Given the description of an element on the screen output the (x, y) to click on. 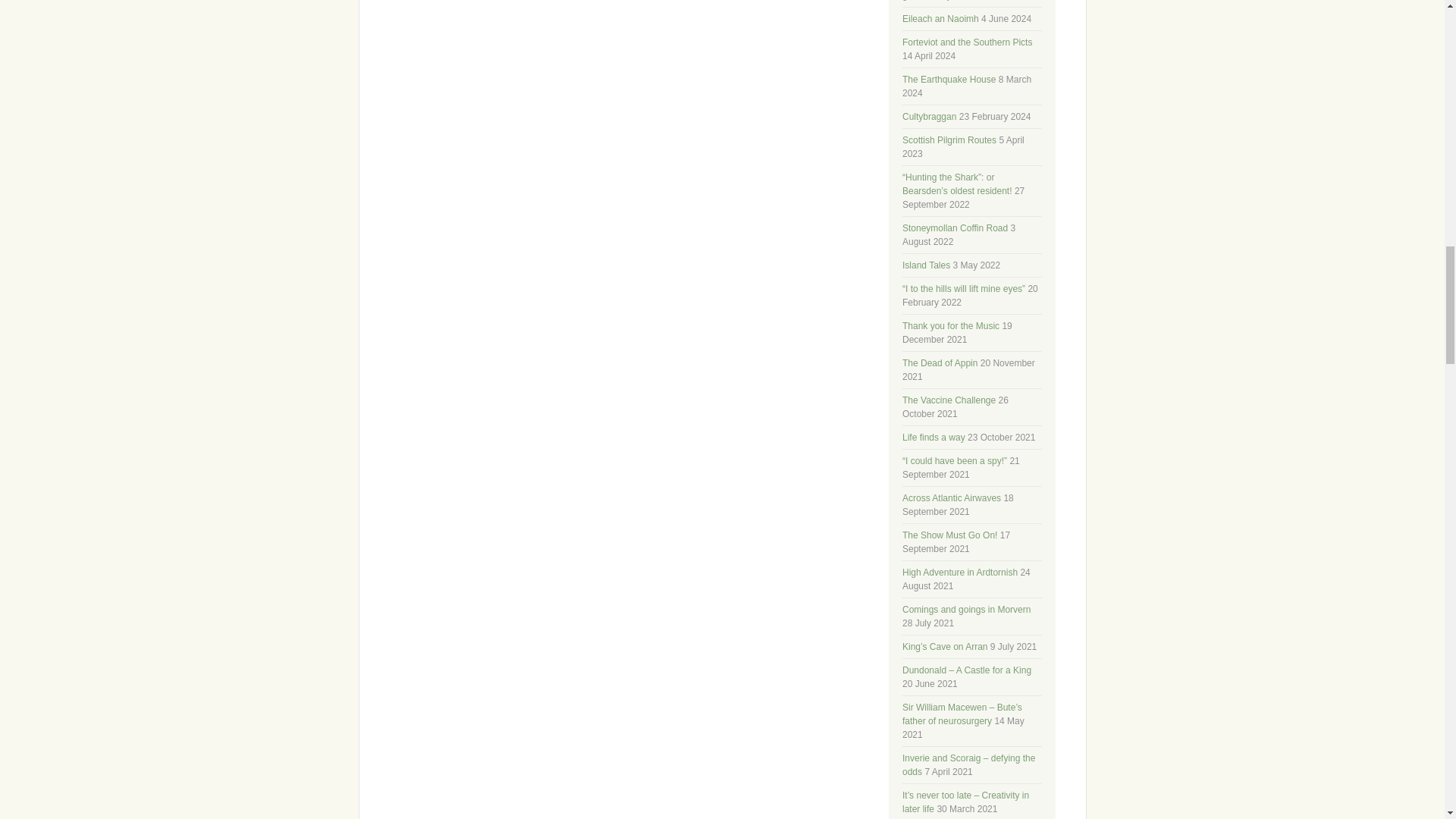
The Earthquake House (948, 79)
Scottish Pilgrim Routes (948, 140)
Eileach an Naoimh (940, 18)
Forteviot and the Southern Picts (967, 41)
Cultybraggan (929, 116)
